Given the description of an element on the screen output the (x, y) to click on. 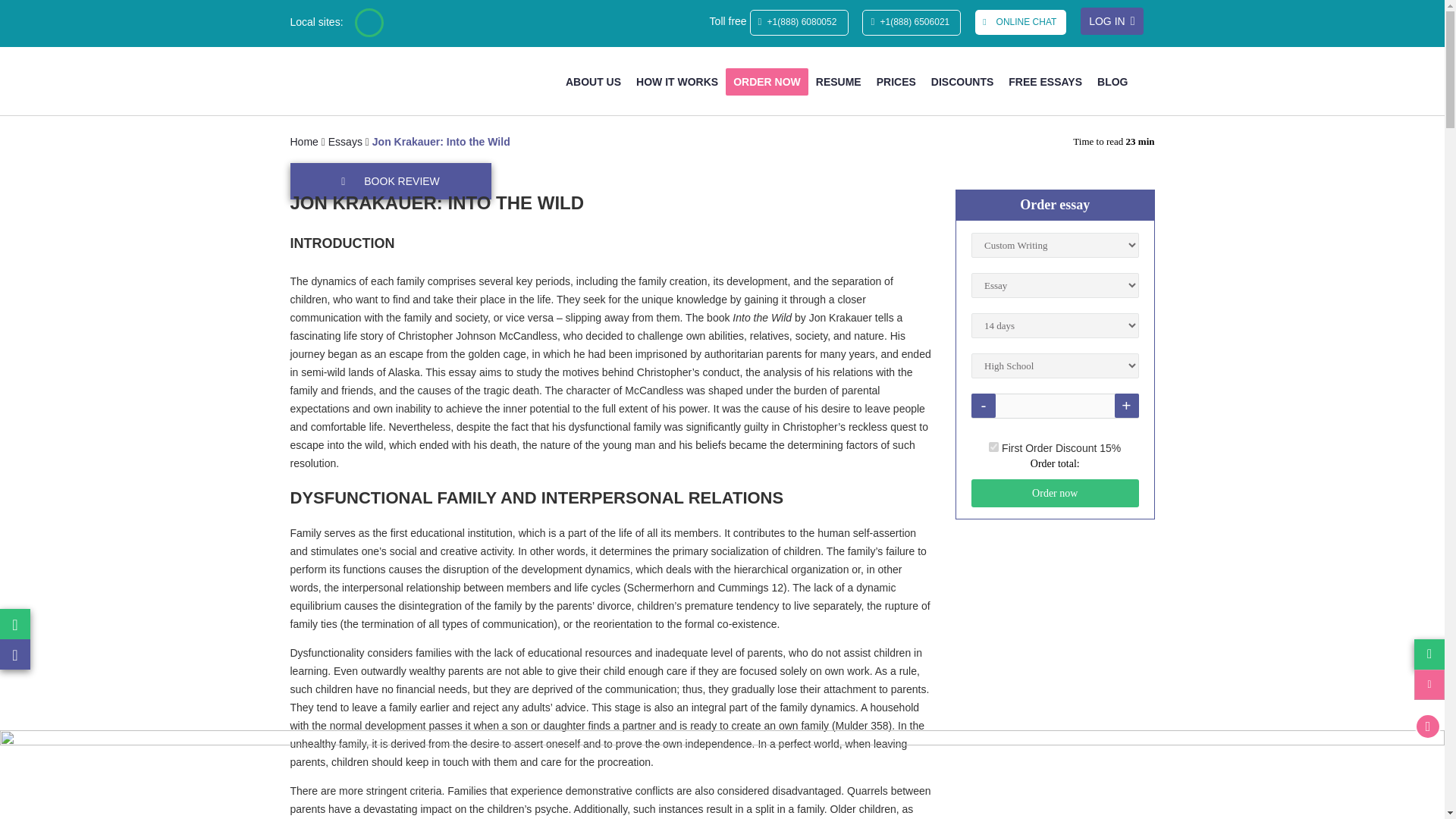
ONLINE CHAT (1020, 22)
BLOG (1112, 81)
HOW IT WORKS (676, 81)
FREE ESSAYS (1045, 81)
Essays (345, 141)
BOOK REVIEW (401, 180)
on (993, 447)
DISCOUNTS (962, 81)
Home (303, 141)
LOG IN (1111, 21)
Order now (1054, 492)
ORDER NOW (766, 81)
Home (303, 141)
Jon Krakauer: Into the Wild (441, 141)
PRICES (896, 81)
